Given the description of an element on the screen output the (x, y) to click on. 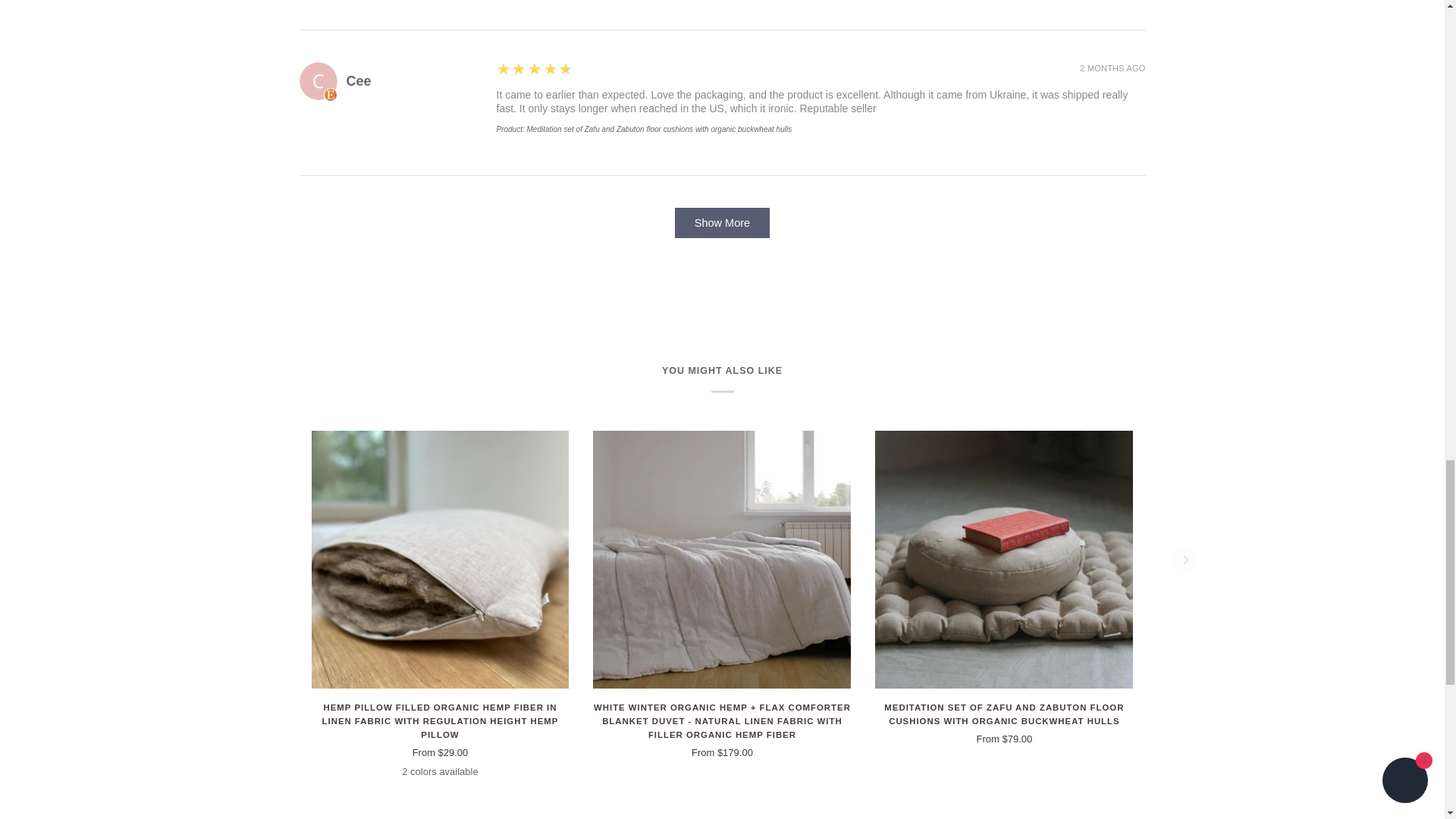
This review was originally posted on Etsy. (329, 94)
